Given the description of an element on the screen output the (x, y) to click on. 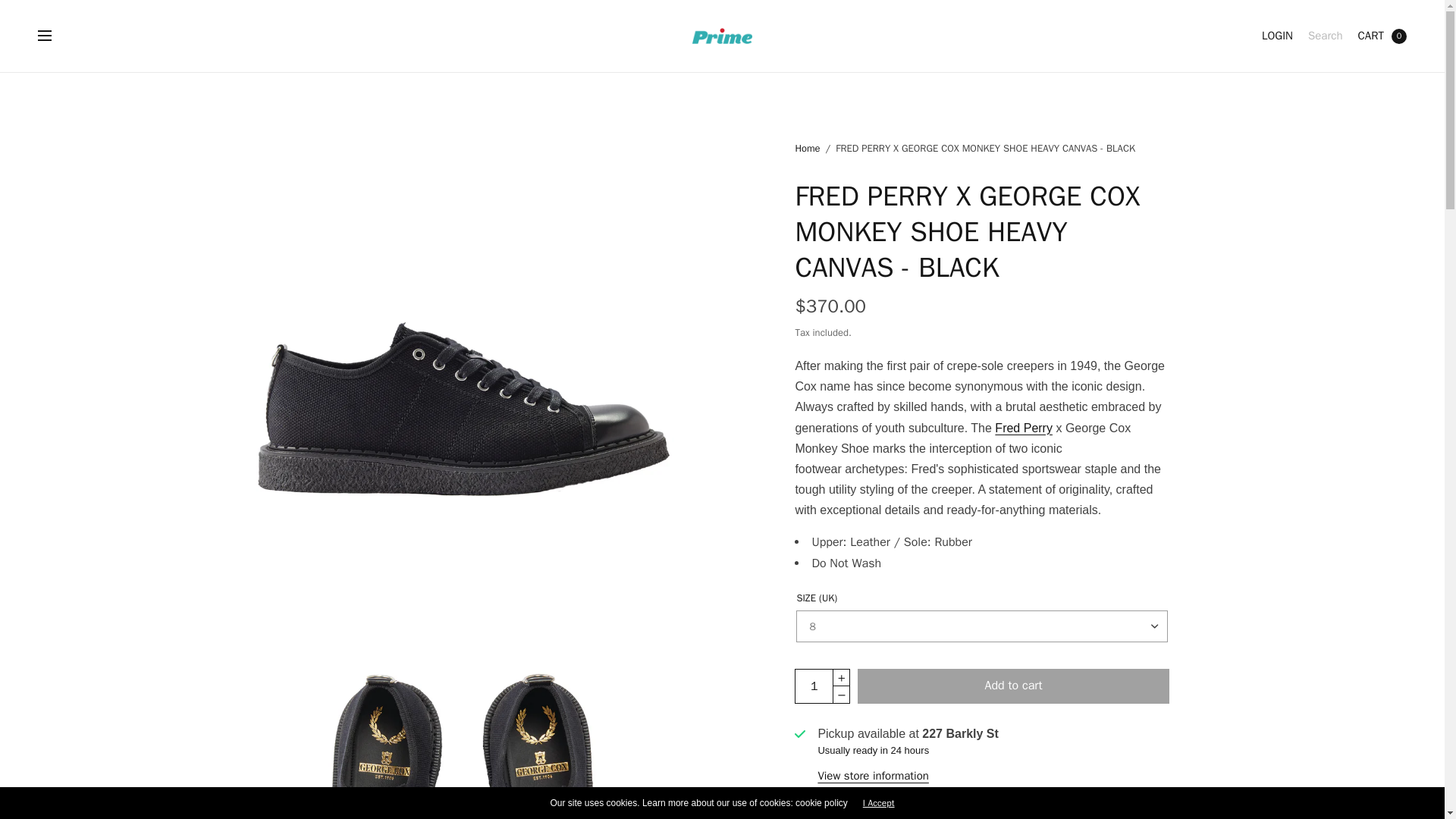
Toggle Mobile Menu (54, 36)
LOGIN (1277, 35)
Search (1324, 35)
1 (813, 686)
